Given the description of an element on the screen output the (x, y) to click on. 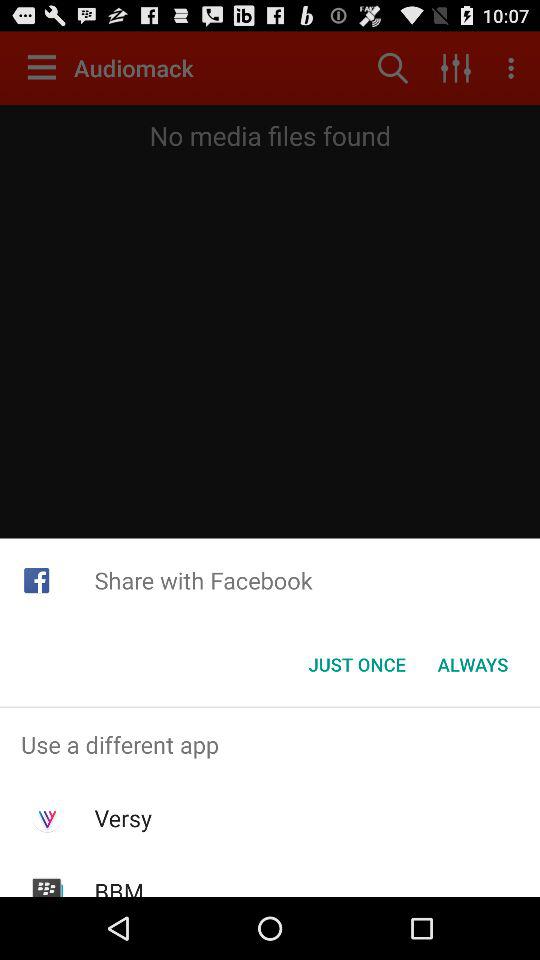
swipe to bbm item (119, 885)
